Given the description of an element on the screen output the (x, y) to click on. 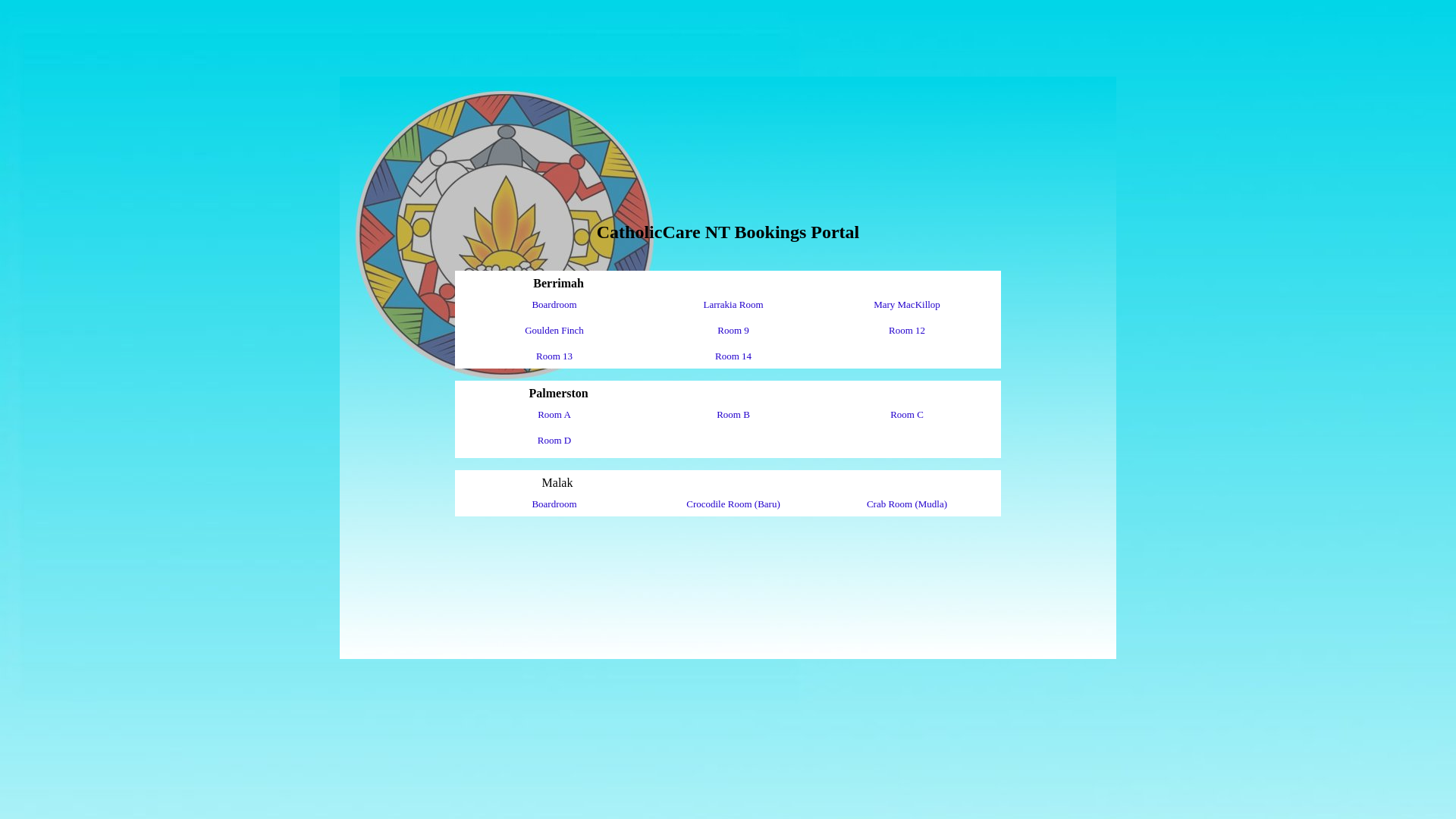
Room 12 Element type: text (906, 329)
Room A Element type: text (554, 413)
Room D Element type: text (554, 439)
Room 9 Element type: text (733, 329)
Boardroom Element type: text (553, 304)
Mary MacKillop Element type: text (906, 304)
Boardroom Element type: text (553, 502)
Goulden Finch Element type: text (553, 329)
Room 13 Element type: text (554, 355)
Larrakia Room Element type: text (732, 304)
Room B Element type: text (732, 413)
Crab Room (Mudla) Element type: text (906, 502)
Room 14 Element type: text (733, 355)
Crocodile Room (Baru) Element type: text (733, 502)
Room C Element type: text (906, 413)
